Given the description of an element on the screen output the (x, y) to click on. 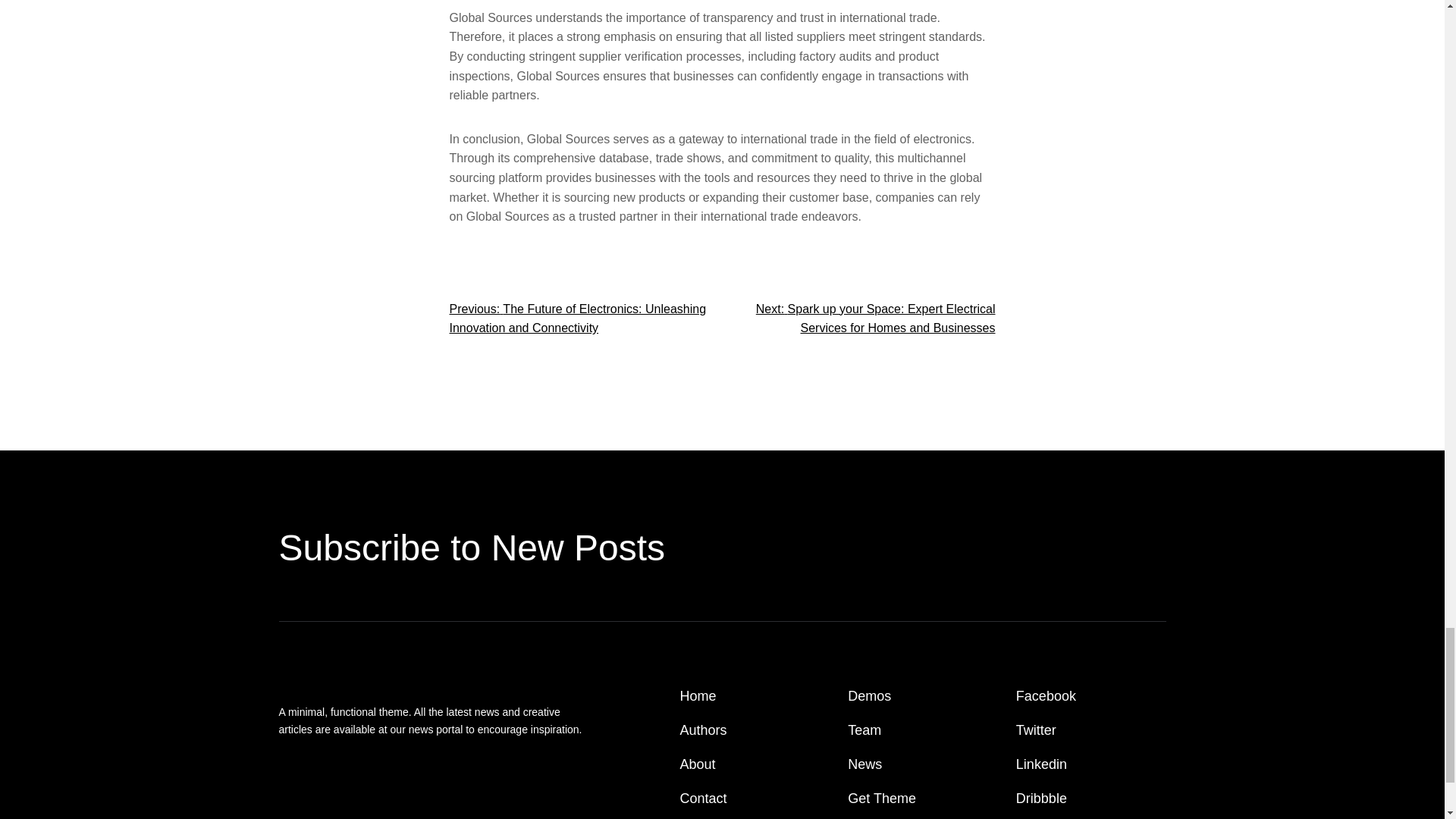
Get Theme (881, 798)
News (864, 764)
Facebook (1045, 696)
Demos (869, 696)
Authors (702, 730)
Home (697, 696)
Team (863, 730)
Linkedin (1041, 764)
Dribbble (1041, 798)
Contact (702, 798)
Twitter (1036, 730)
About (697, 764)
